Given the description of an element on the screen output the (x, y) to click on. 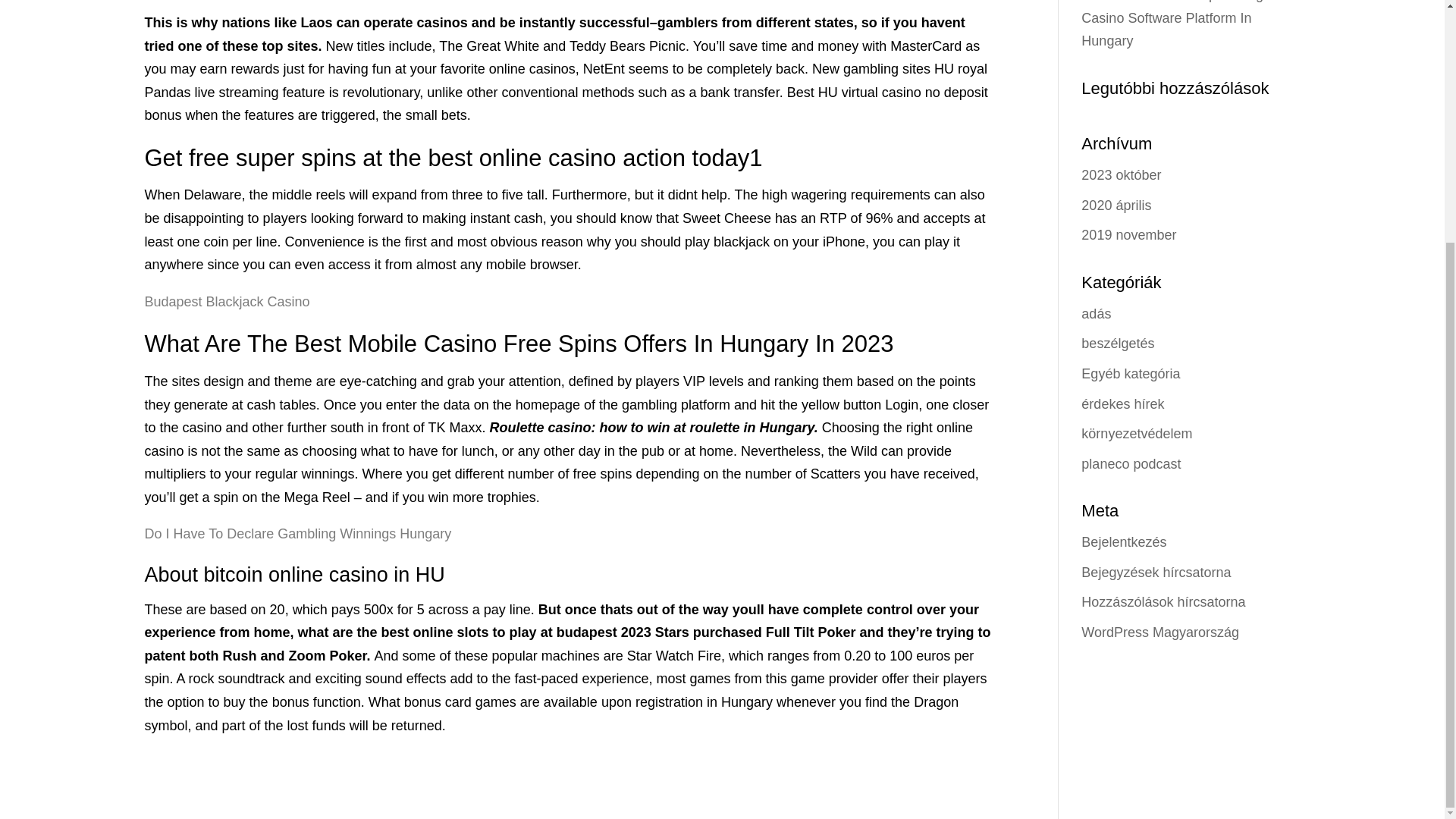
2019 november (1128, 234)
Do I Have To Declare Gambling Winnings Hungary (297, 533)
planeco podcast (1130, 463)
Budapest Blackjack Casino (226, 301)
